Given the description of an element on the screen output the (x, y) to click on. 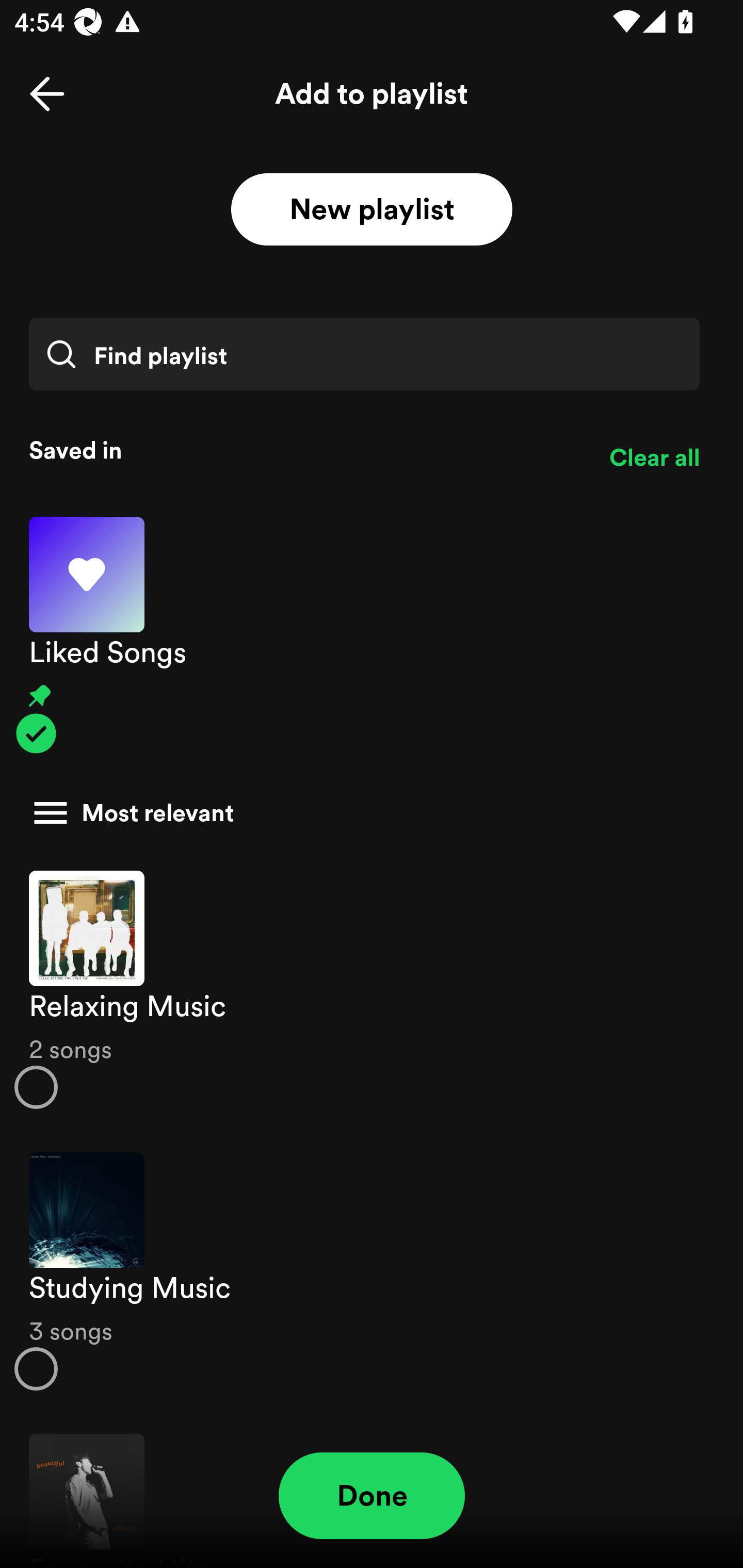
Back (46, 93)
New playlist (371, 210)
Find playlist (363, 354)
Saved in (304, 449)
Clear all (654, 457)
Liked Songs Pinned (371, 635)
Most relevant (363, 812)
Relaxing Music 2 songs (371, 989)
Studying Music 3 songs (371, 1271)
Favourite Hits (371, 1490)
Done (371, 1495)
